Given the description of an element on the screen output the (x, y) to click on. 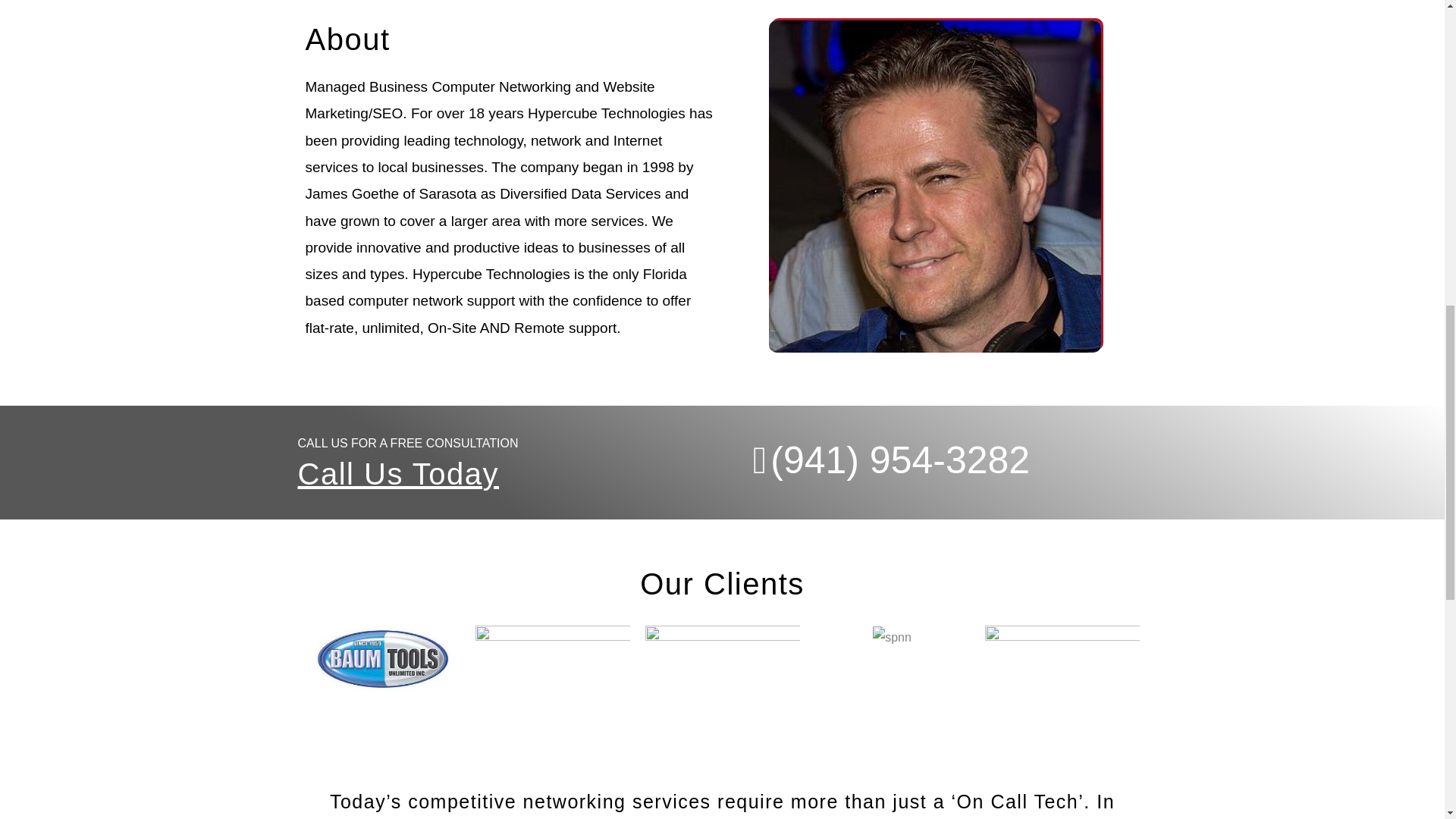
Call Us Today (398, 473)
spnn (891, 637)
